Given the description of an element on the screen output the (x, y) to click on. 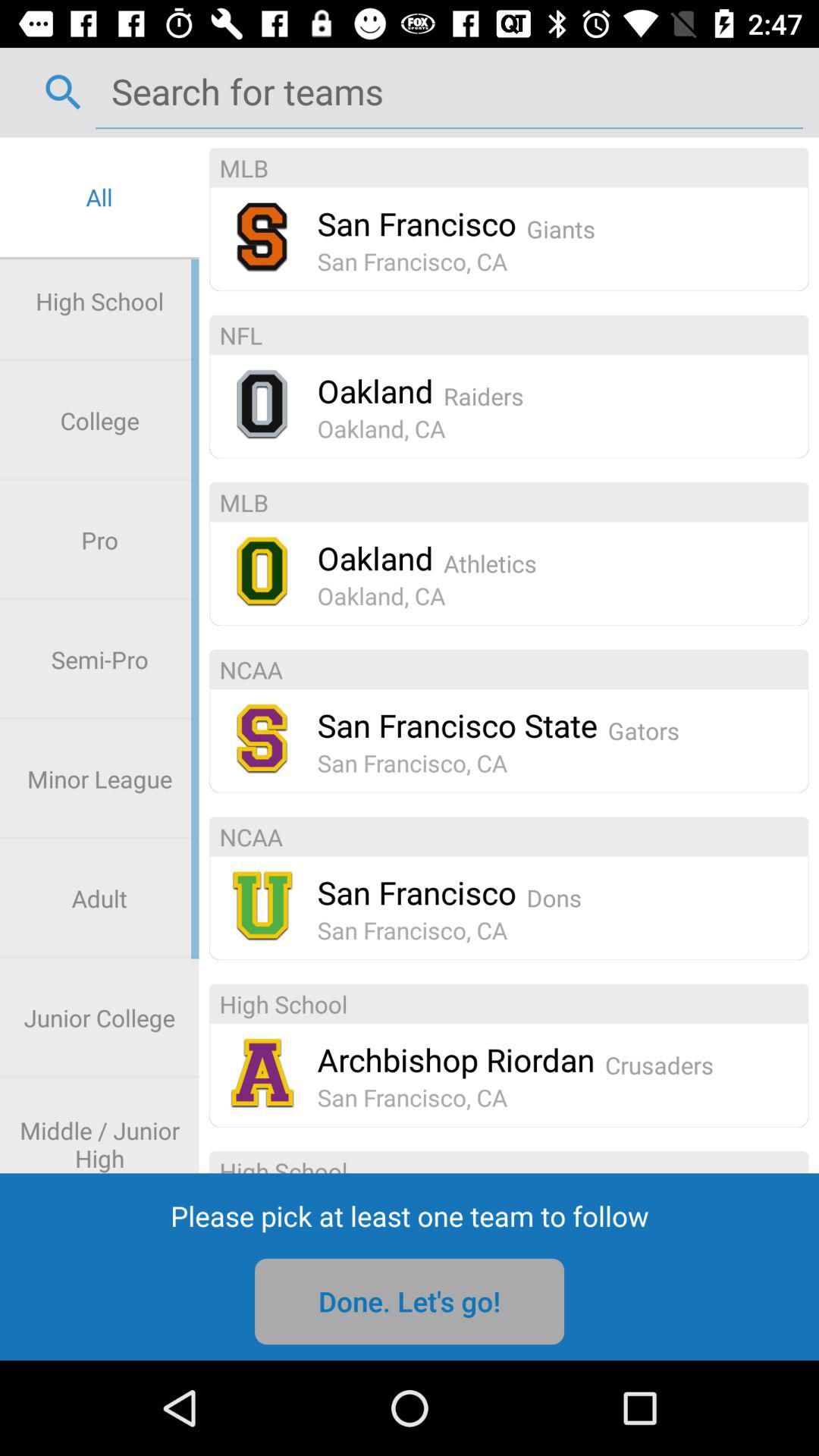
jump until the done let s icon (409, 1301)
